Given the description of an element on the screen output the (x, y) to click on. 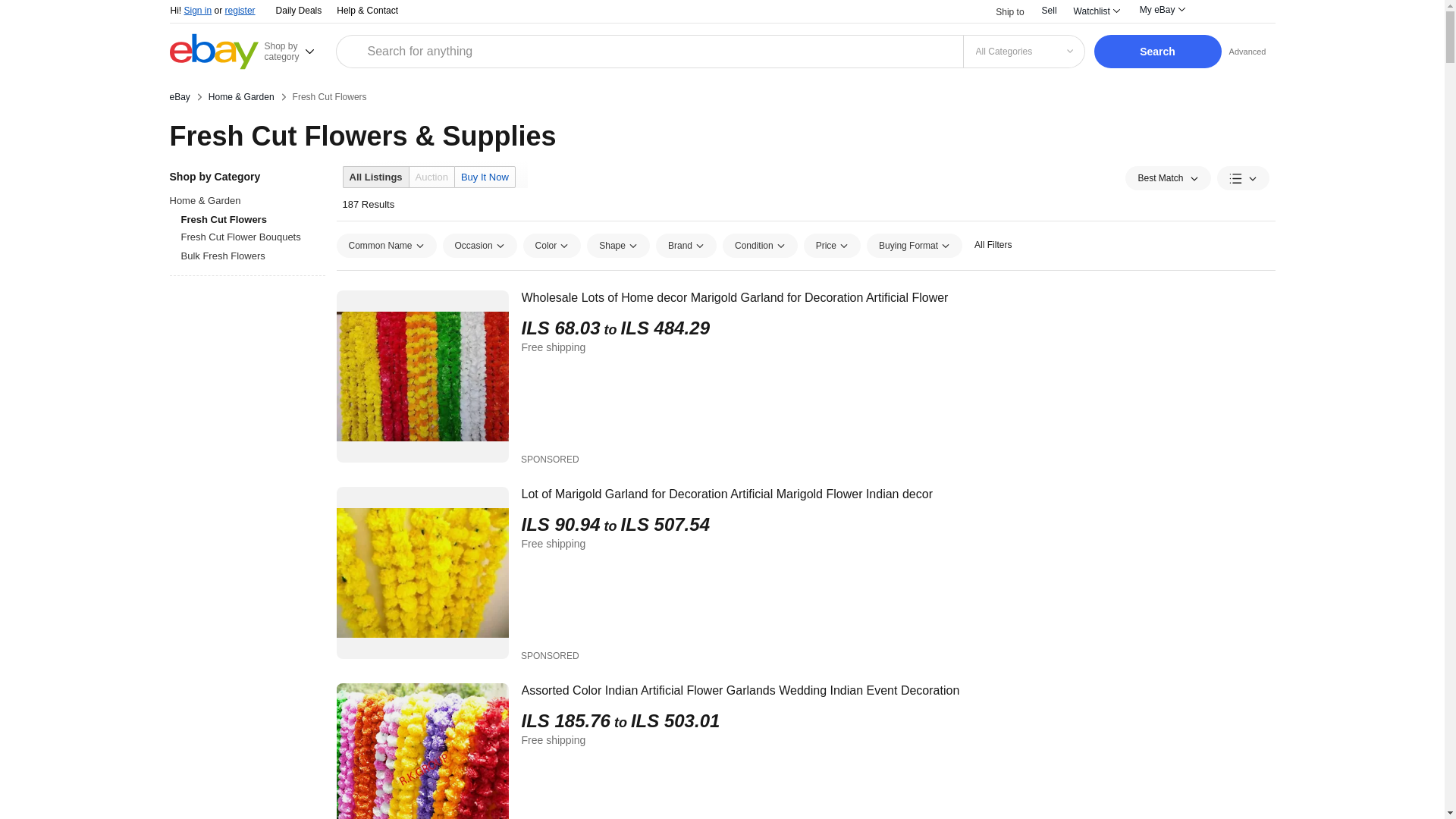
Notifications (1216, 11)
My eBay (1161, 9)
Search (1157, 51)
Advanced Search (1247, 51)
Daily Deals (298, 11)
Bulk Fresh Flowers (252, 256)
My eBay (1161, 9)
register (240, 9)
Fresh Cut Flower Bouquets (252, 237)
Sell (1049, 9)
Advanced (1247, 51)
Sign in (197, 9)
Shop by category (296, 51)
Fresh Cut Flowers (329, 96)
Ship to (999, 11)
